Given the description of an element on the screen output the (x, y) to click on. 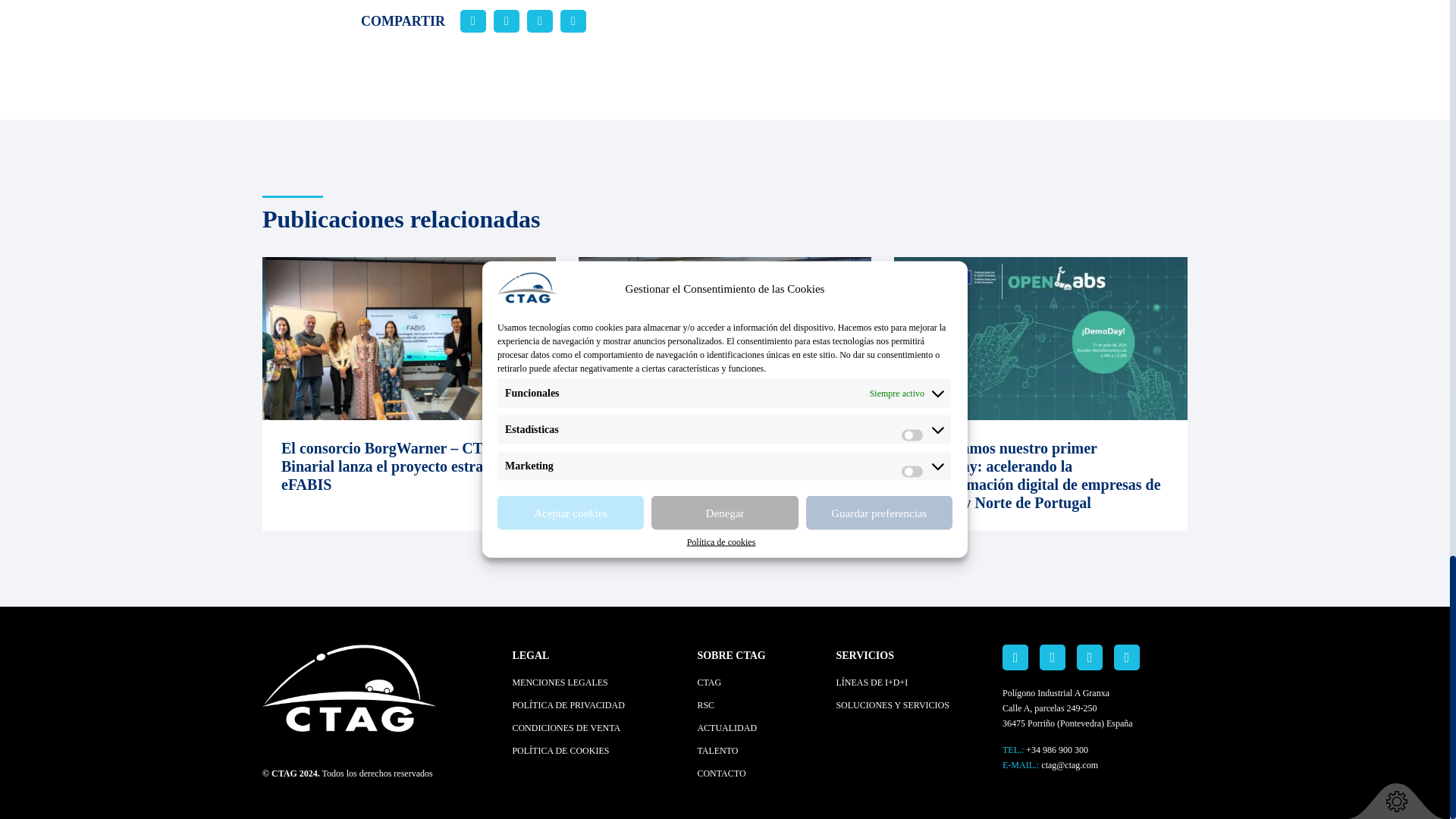
LinkedIn (1015, 657)
Instagram (1089, 657)
YouTube (1052, 657)
Vimeo (1126, 657)
